Given the description of an element on the screen output the (x, y) to click on. 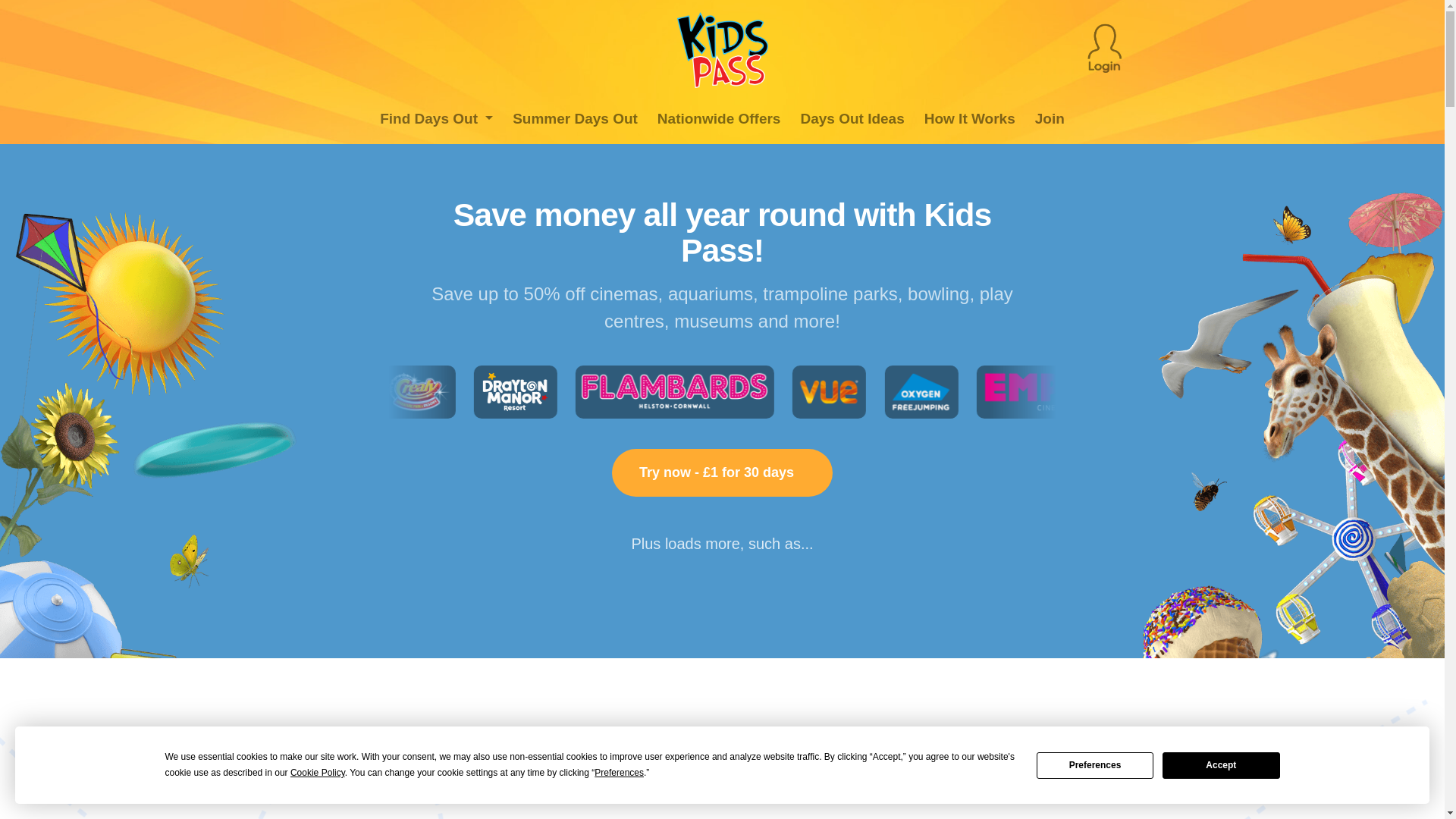
Summer Days Out (574, 119)
Join (1049, 119)
Preferences (1094, 765)
Nationwide Offers (718, 119)
How It Works (970, 119)
Accept (1220, 765)
Find Days Out (436, 119)
Days Out Ideas (851, 119)
